Given the description of an element on the screen output the (x, y) to click on. 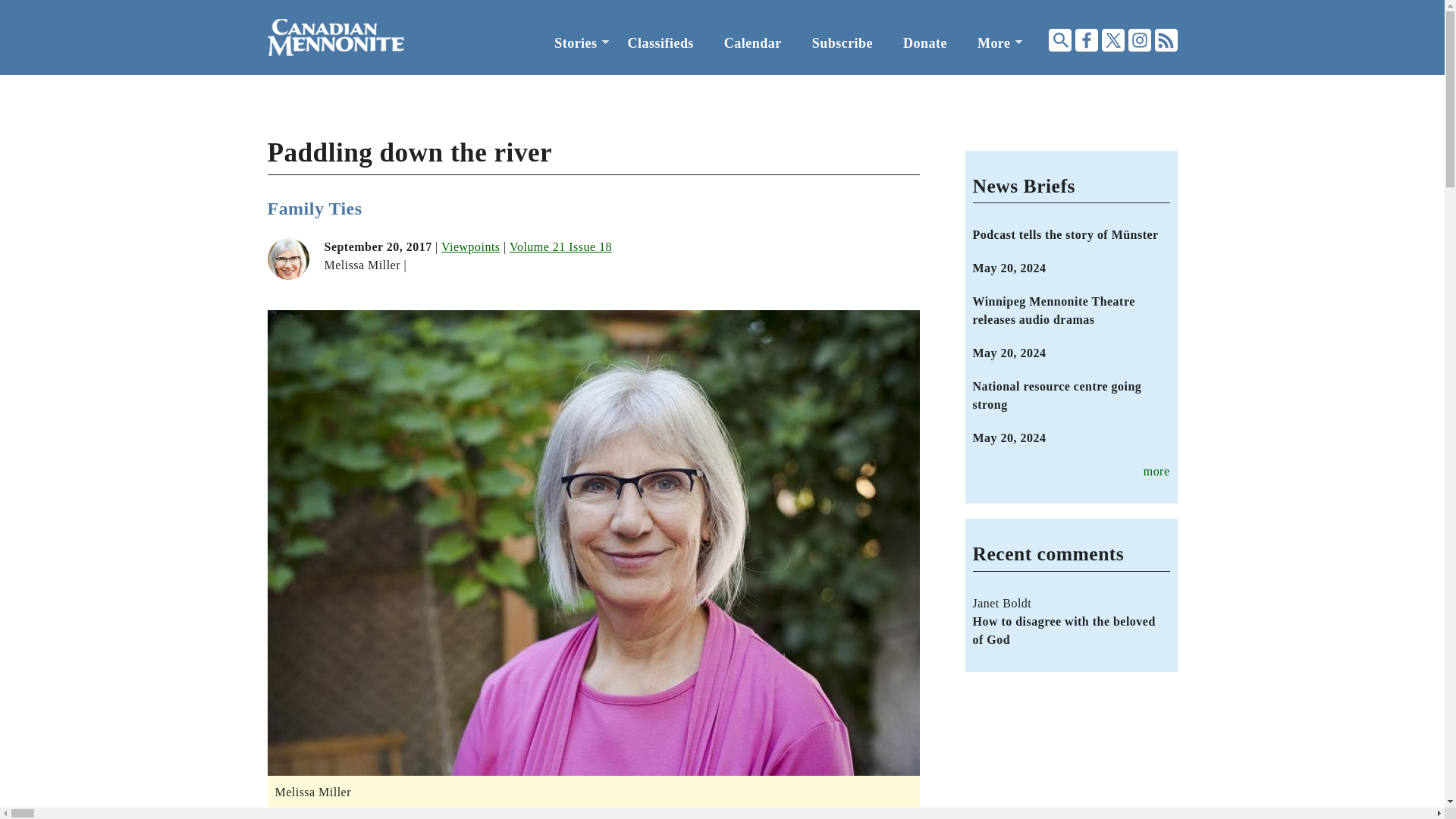
Viewpoints (470, 246)
Calendar (752, 42)
Subscribe to Canadian Mennonite (842, 42)
Browse Stories (574, 42)
Church Events Calendar (752, 42)
Donate (925, 42)
Subscribe (842, 42)
RSS (1165, 39)
Volume 21 Issue 18 (560, 246)
Classifieds (660, 42)
Support Canadian Mennonite (925, 42)
